Given the description of an element on the screen output the (x, y) to click on. 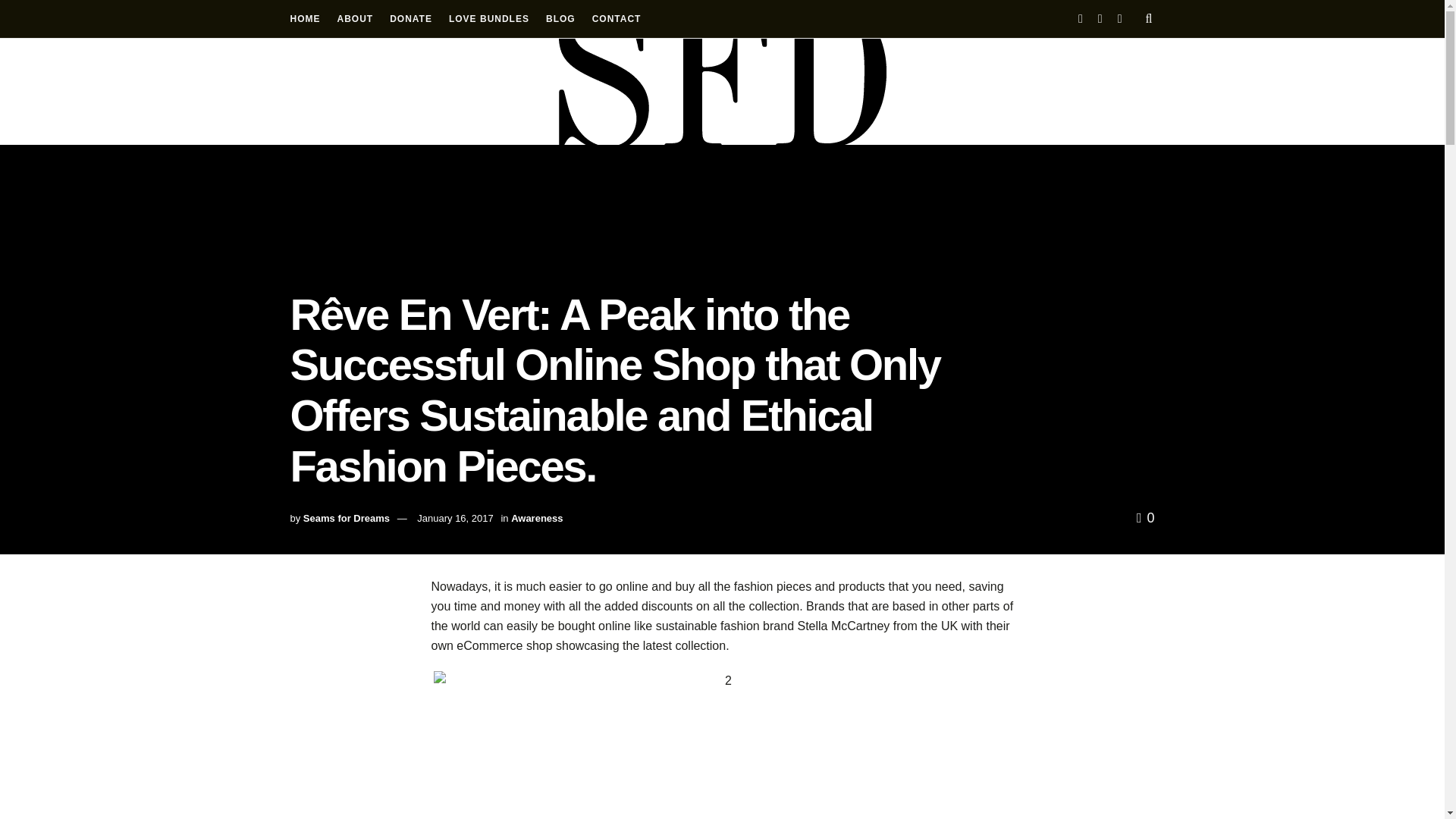
ABOUT (354, 18)
Seams for Dreams (346, 518)
0 (1145, 517)
LOVE BUNDLES (488, 18)
CONTACT (617, 18)
DONATE (411, 18)
January 16, 2017 (454, 518)
Awareness (536, 518)
